Given the description of an element on the screen output the (x, y) to click on. 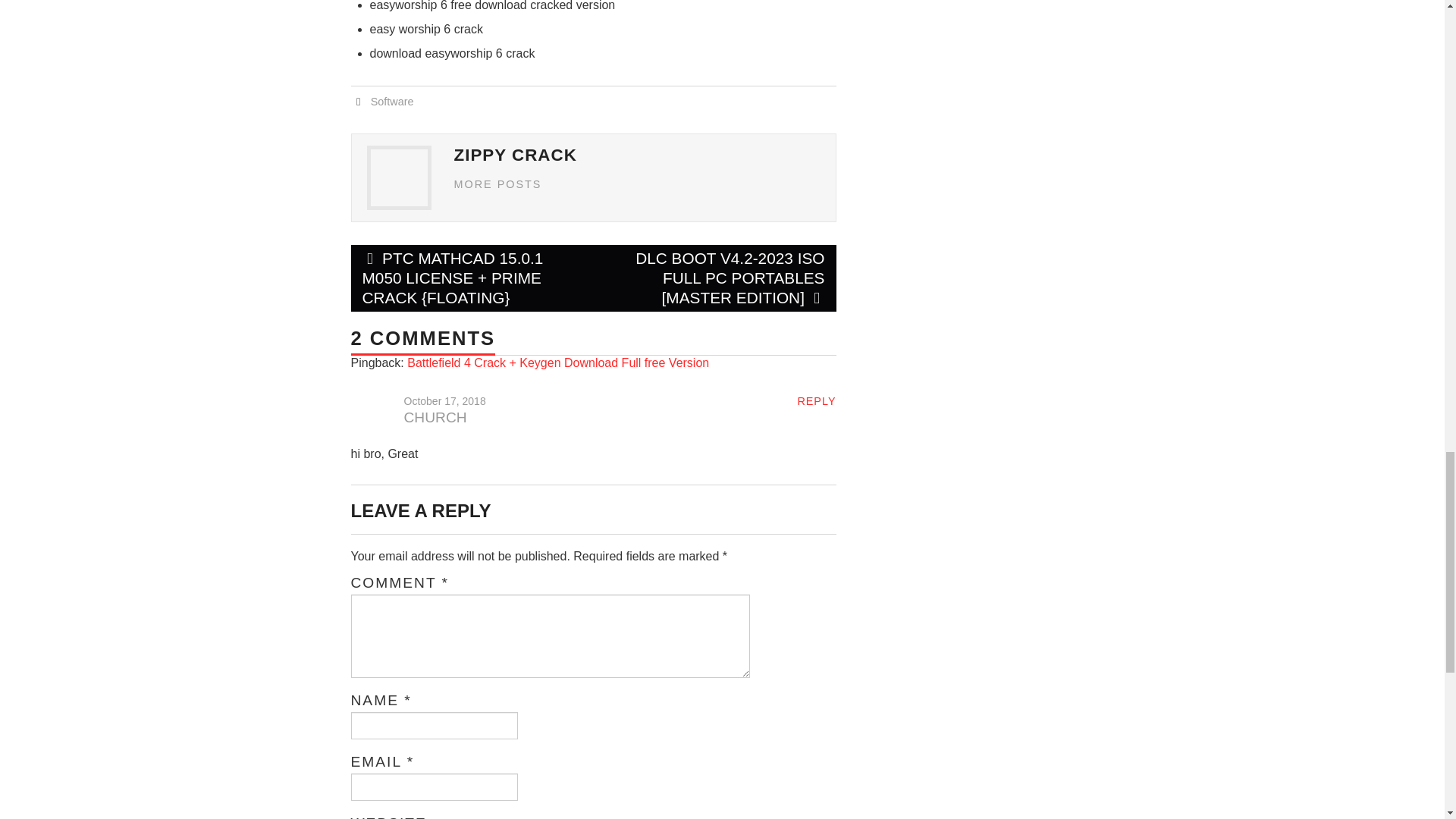
October 17, 2018 (443, 400)
REPLY (815, 400)
Software (392, 101)
MORE POSTS (496, 184)
